Given the description of an element on the screen output the (x, y) to click on. 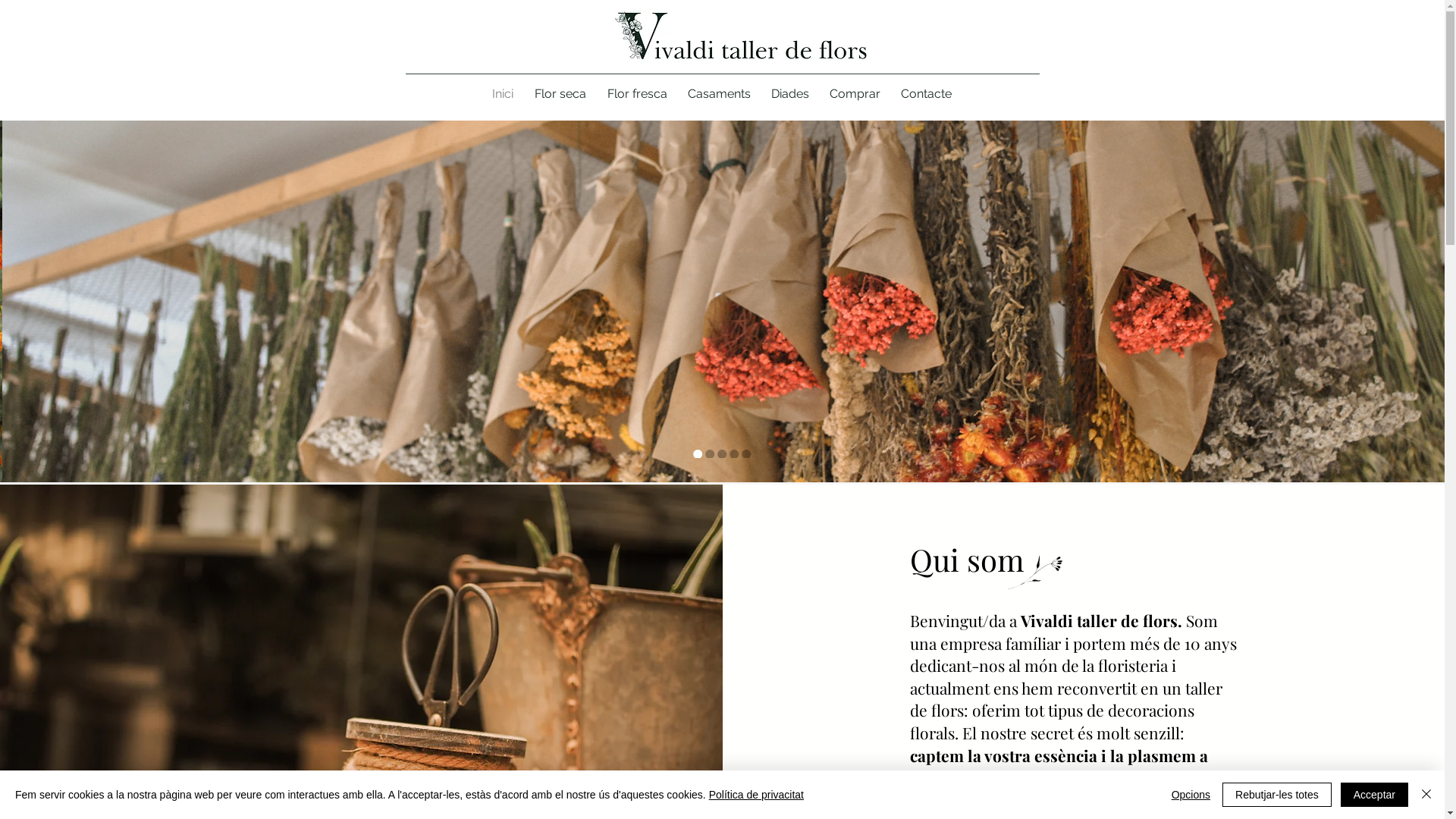
Casaments Element type: text (719, 93)
Acceptar Element type: text (1374, 794)
Contacte Element type: text (925, 93)
Flor fresca Element type: text (636, 93)
Comprar Element type: text (854, 93)
Flor seca Element type: text (559, 93)
Inici Element type: text (501, 93)
Rebutjar-les totes Element type: text (1276, 794)
Diades Element type: text (790, 93)
